Given the description of an element on the screen output the (x, y) to click on. 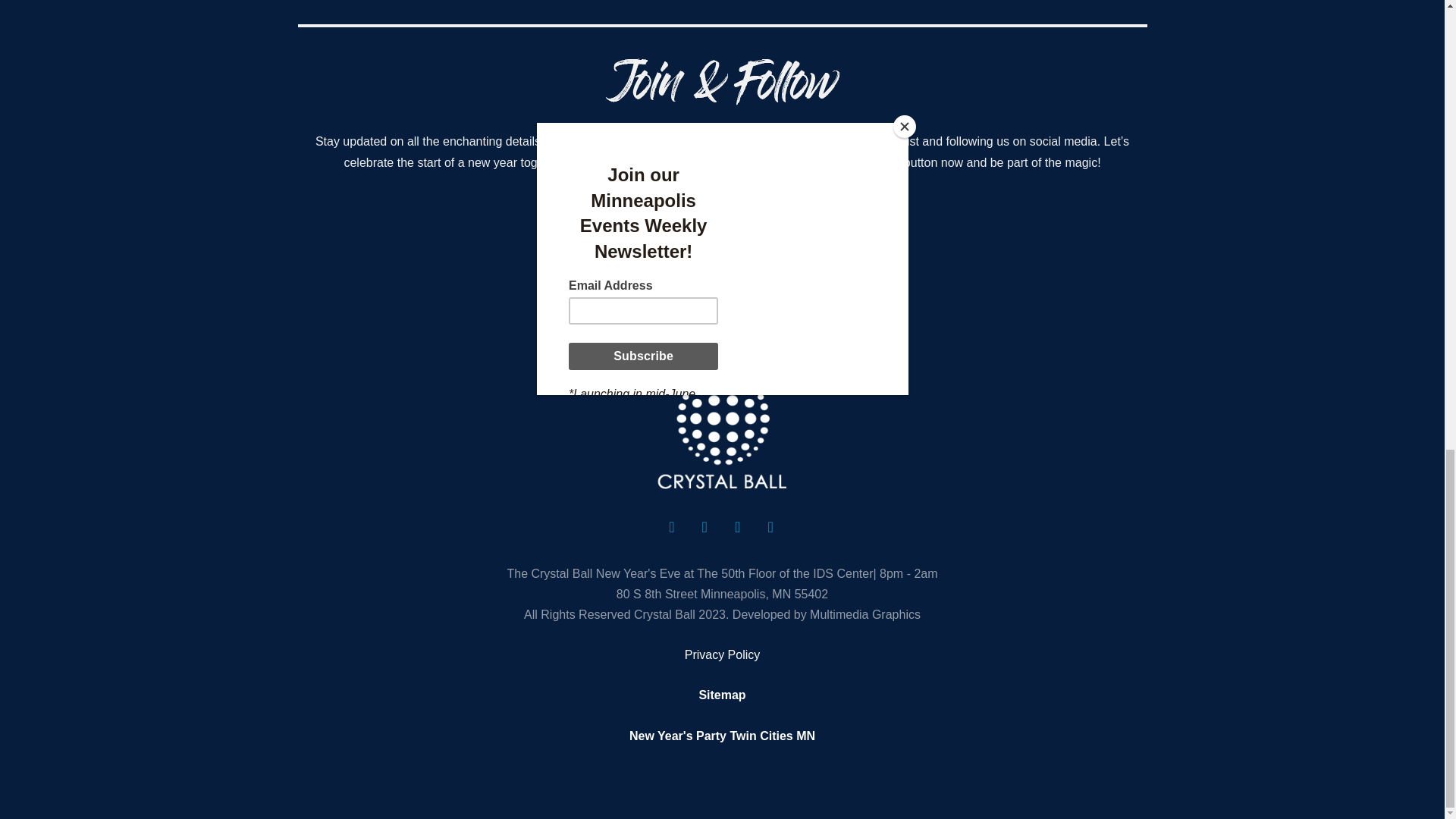
Privacy Policy (722, 654)
New Year's Party Twin Cities MN (721, 735)
Sitemap (721, 694)
New Year's Party Twin Cities MN (721, 735)
